Given the description of an element on the screen output the (x, y) to click on. 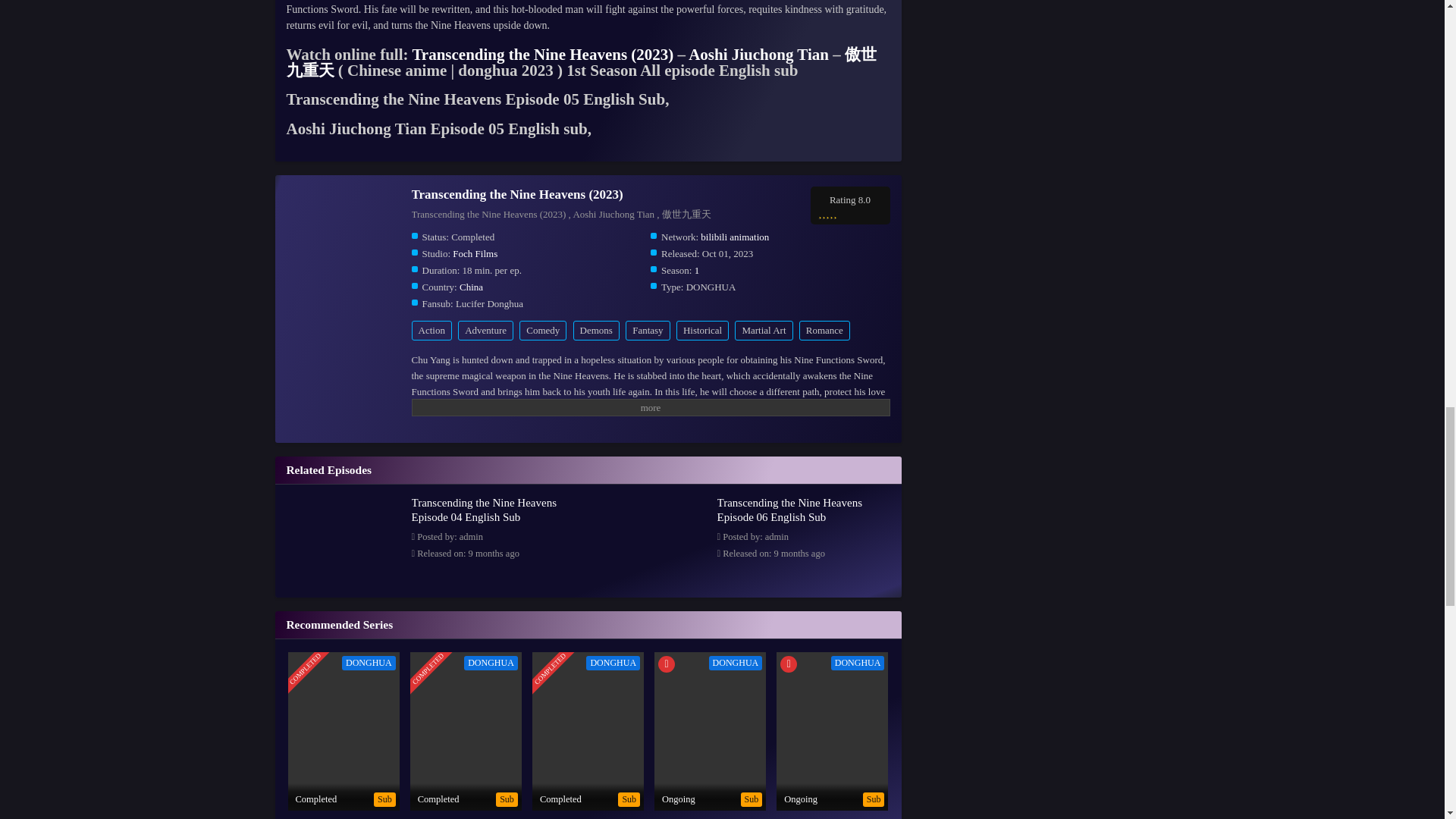
Foch Films (474, 253)
China (471, 286)
Aoshi Jiuchong Tian (758, 54)
bilibili animation (734, 236)
Transcending the Nine Heavens Episode 04 English Sub (483, 509)
Transcending the Nine Heavens Episode 06 English Sub (789, 509)
Transcending the Nine Heavens Episode 04 English Sub (345, 649)
Transcending the Nine Heavens Episode 06 English Sub (650, 649)
